Given the description of an element on the screen output the (x, y) to click on. 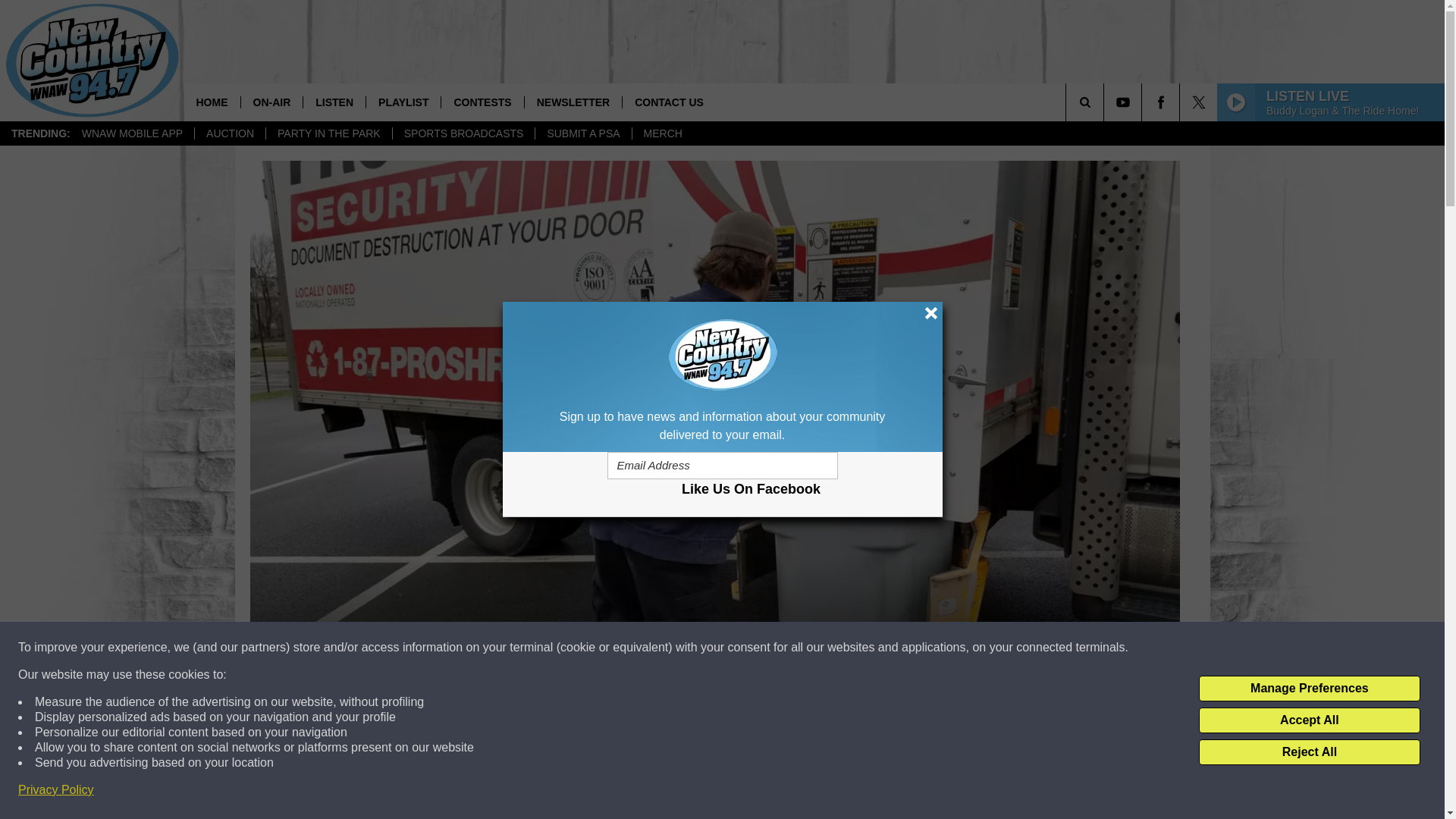
MERCH (662, 133)
SUBMIT A PSA (582, 133)
SEARCH (1106, 102)
Share on Twitter (912, 791)
Accept All (1309, 720)
HOME (211, 102)
LISTEN (333, 102)
WNAW MOBILE APP (131, 133)
Email Address (722, 465)
PLAYLIST (403, 102)
CONTACT US (668, 102)
Share on Facebook (517, 791)
Privacy Policy (55, 789)
Reject All (1309, 751)
PARTY IN THE PARK (327, 133)
